Given the description of an element on the screen output the (x, y) to click on. 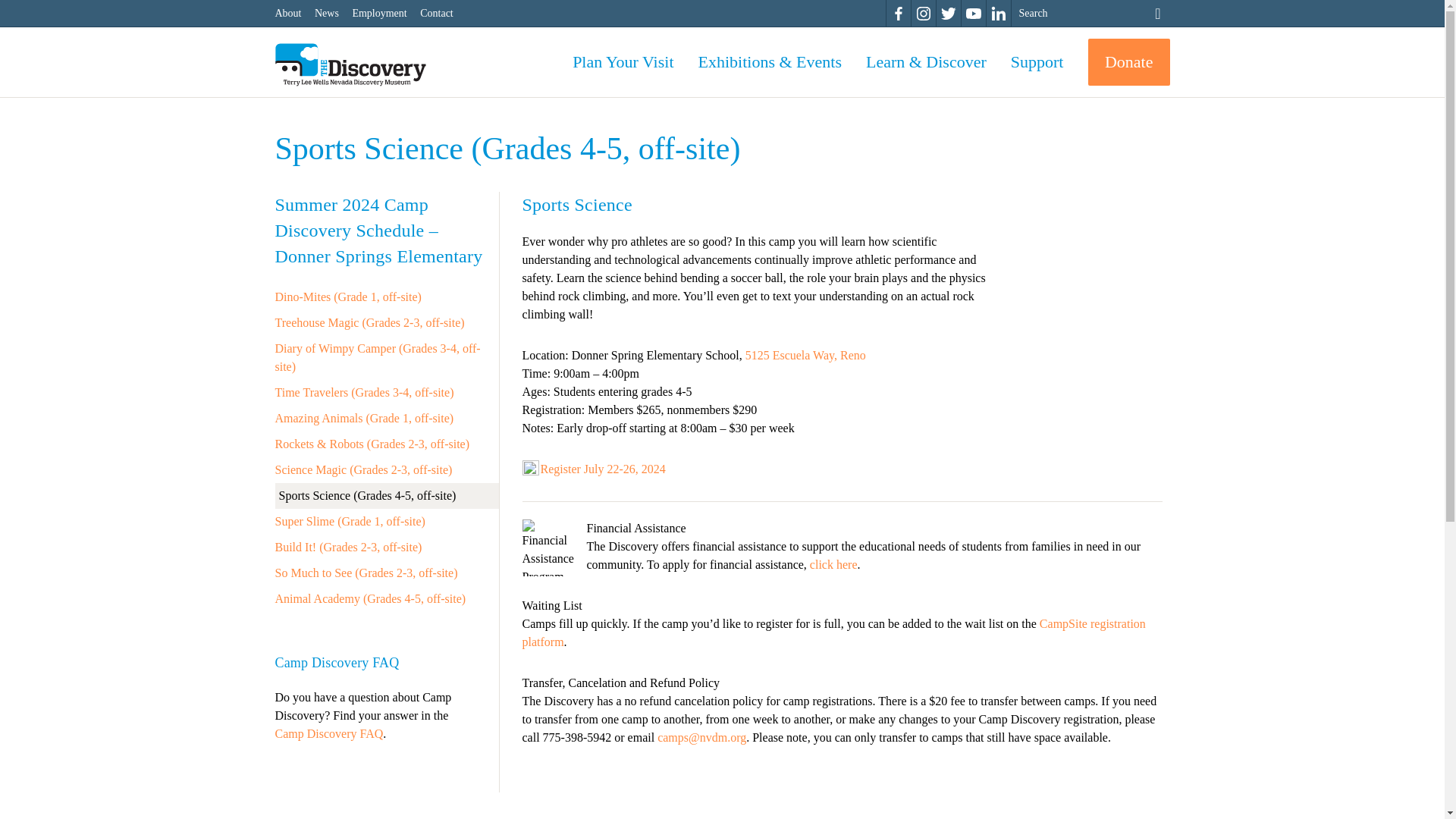
News (333, 13)
Support (1036, 62)
Contact (442, 13)
Twitter (947, 13)
About (294, 13)
Employment (386, 13)
Instagram (923, 13)
LinkedIn (997, 13)
Plan Your Visit (622, 62)
Youtube (972, 13)
Facebook (897, 13)
Search (1153, 13)
